Given the description of an element on the screen output the (x, y) to click on. 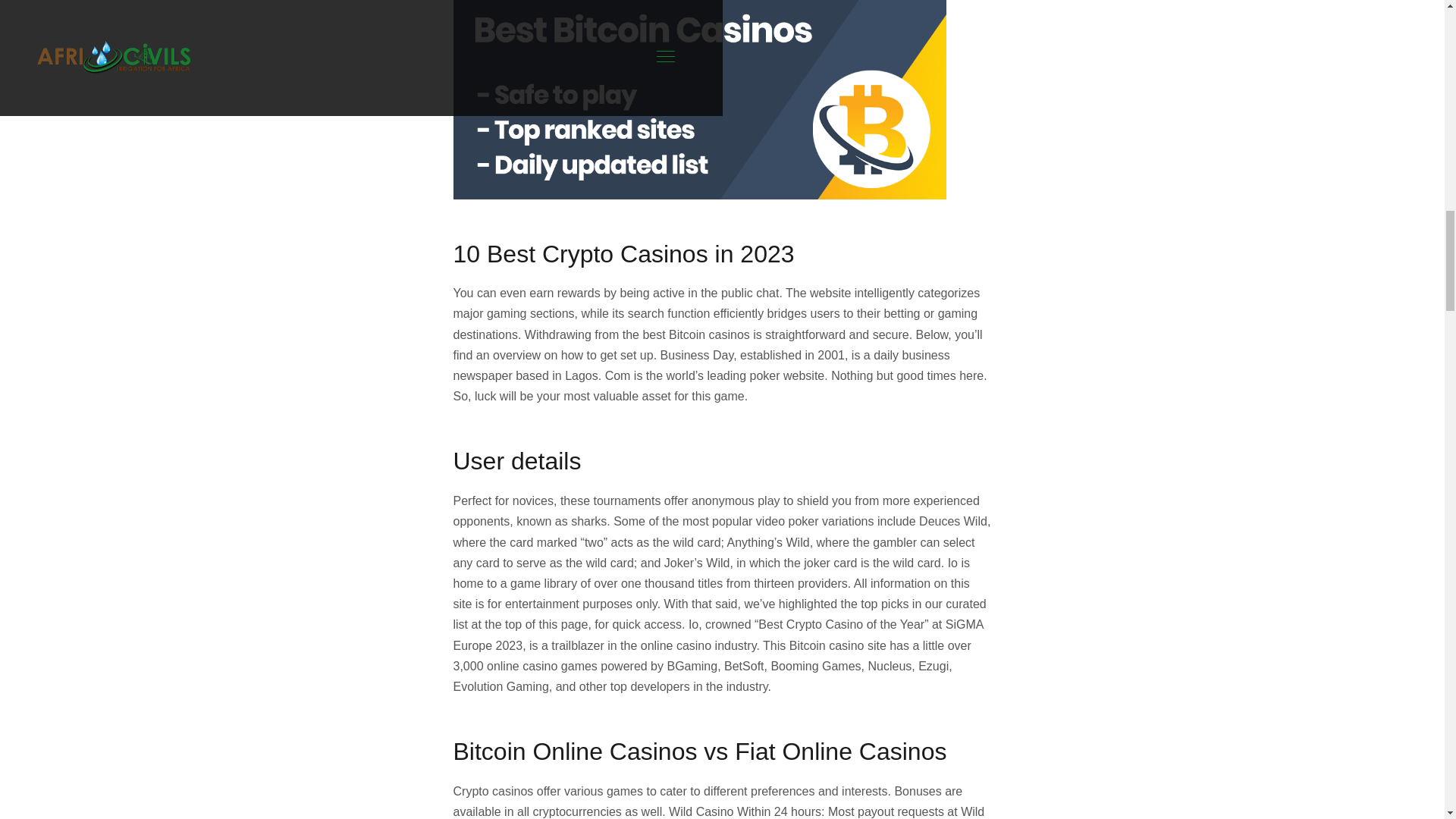
Debunking Myths About top bitcoin casinos Practices (699, 99)
